Given the description of an element on the screen output the (x, y) to click on. 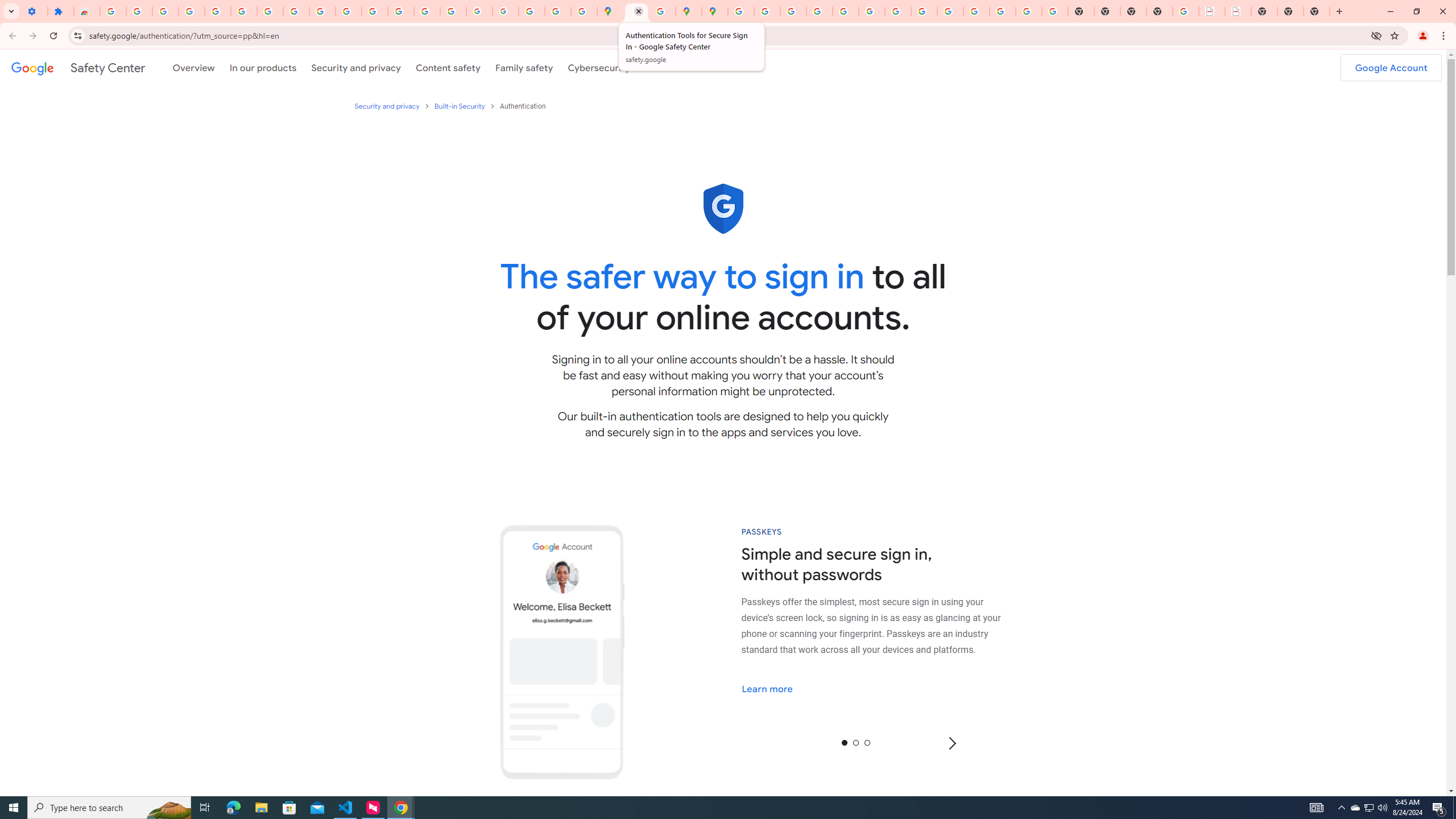
https://scholar.google.com/ (374, 11)
Privacy Help Center - Policies Help (818, 11)
Google Images (1054, 11)
New Tab (1316, 11)
